Given the description of an element on the screen output the (x, y) to click on. 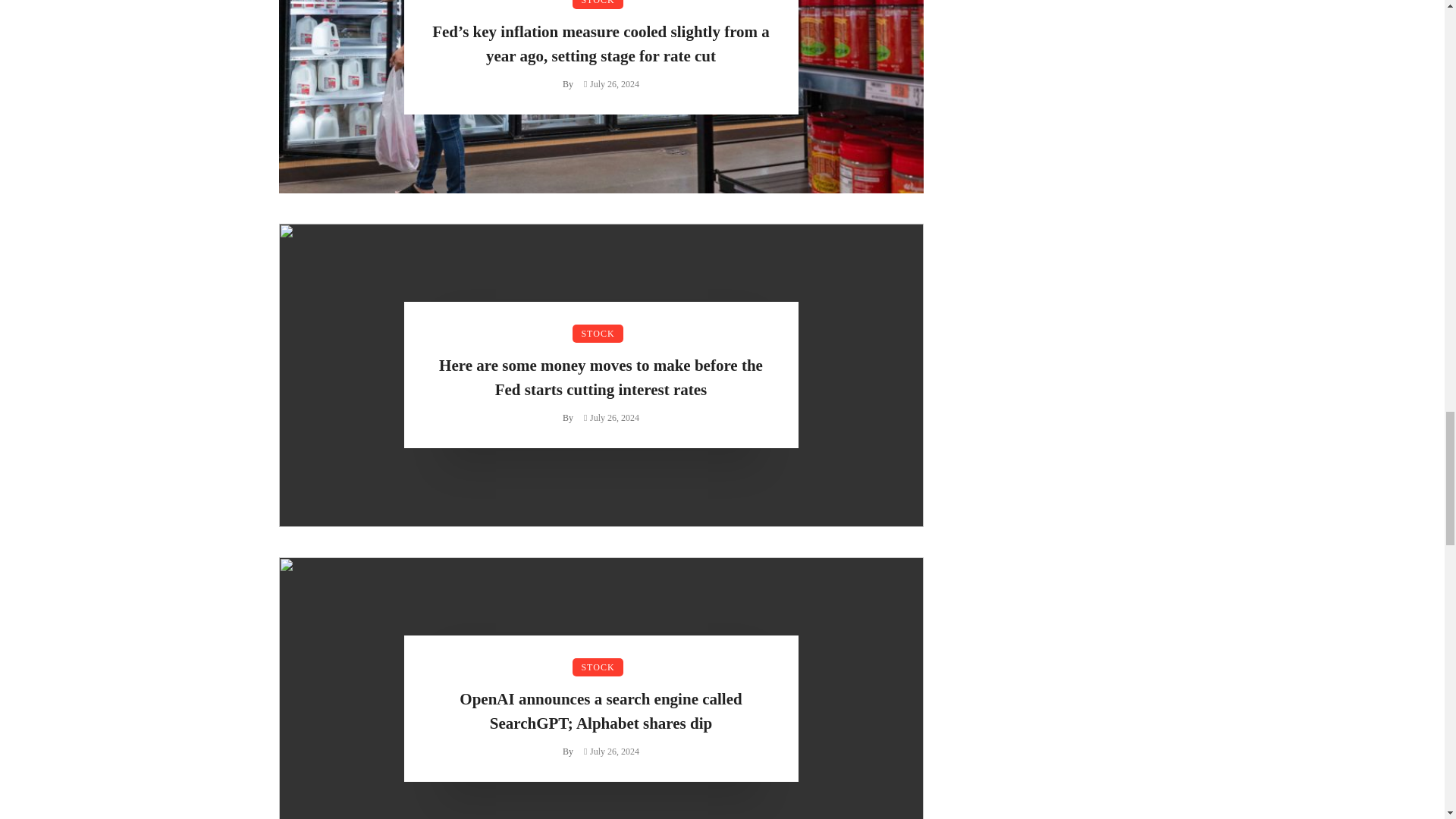
STOCK (597, 4)
STOCK (597, 333)
